Given the description of an element on the screen output the (x, y) to click on. 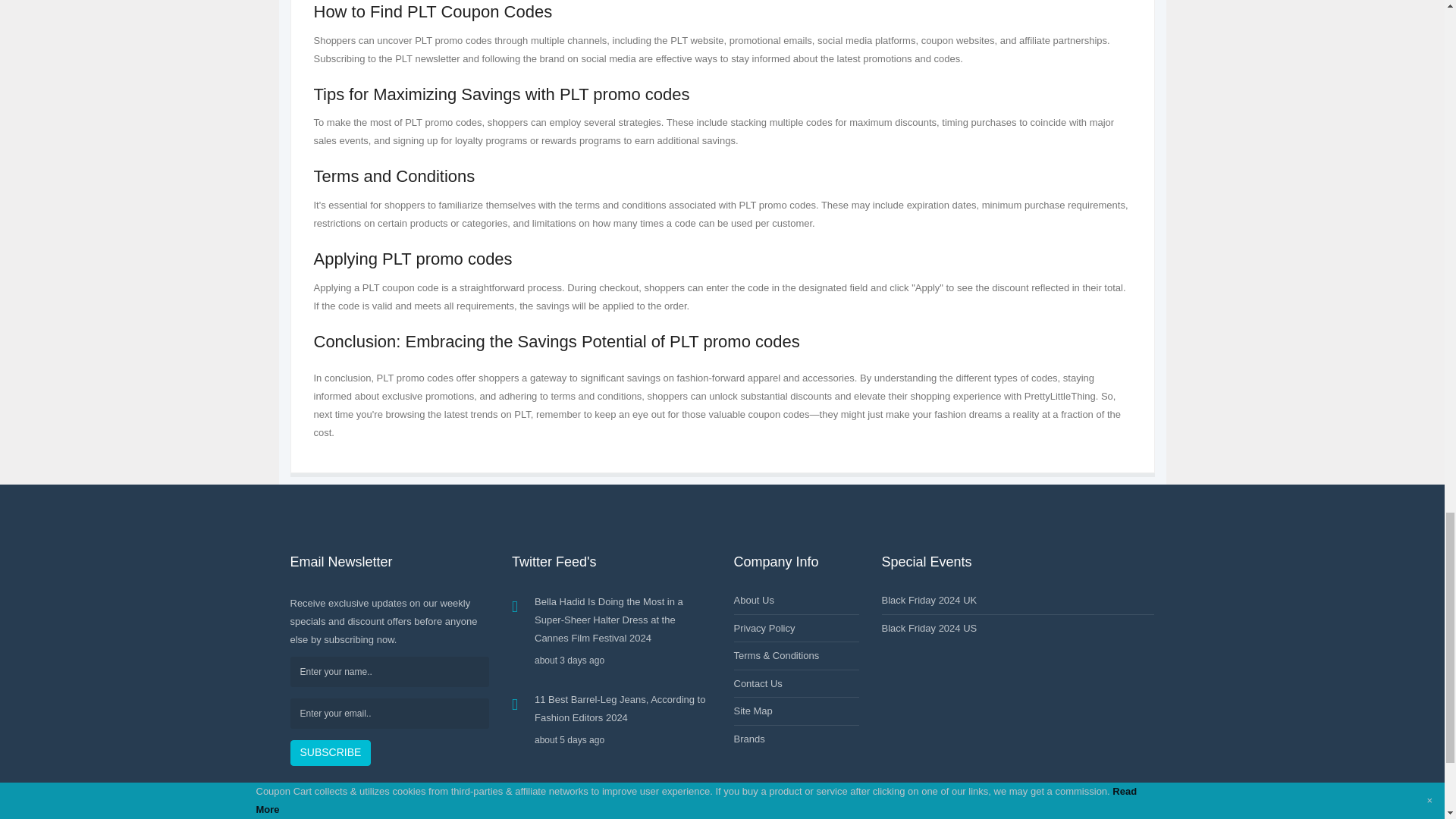
About Us (753, 600)
about 5 days ago (622, 740)
Brands (749, 738)
Black Friday 2024 US (928, 627)
Privacy Policy (763, 627)
SUBSCRIBE (330, 752)
Black Friday 2024 UK (928, 600)
about 3 days ago (622, 660)
Contact Us (758, 683)
Site Map (753, 710)
